Given the description of an element on the screen output the (x, y) to click on. 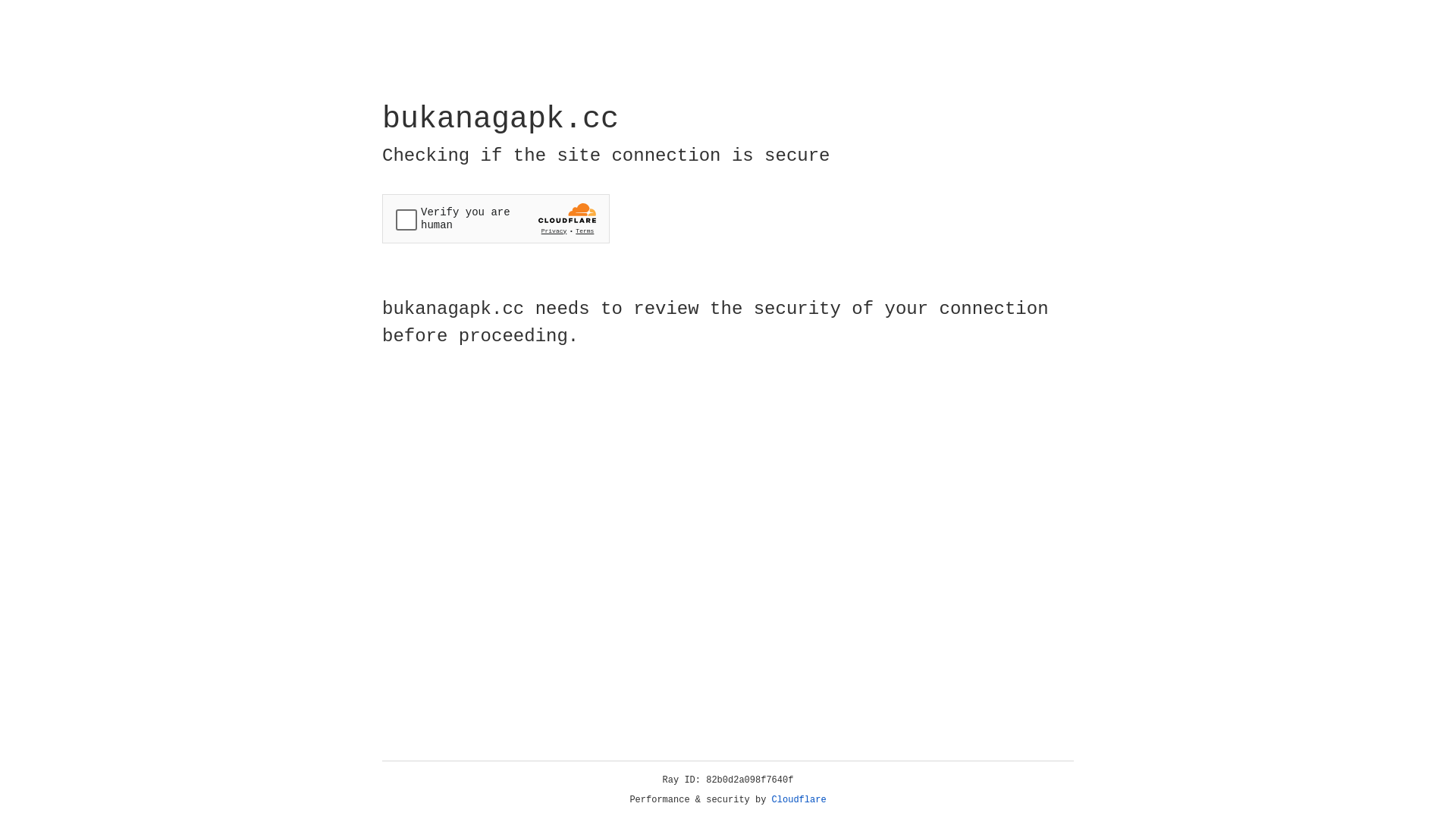
Widget containing a Cloudflare security challenge Element type: hover (495, 218)
Cloudflare Element type: text (798, 799)
